Given the description of an element on the screen output the (x, y) to click on. 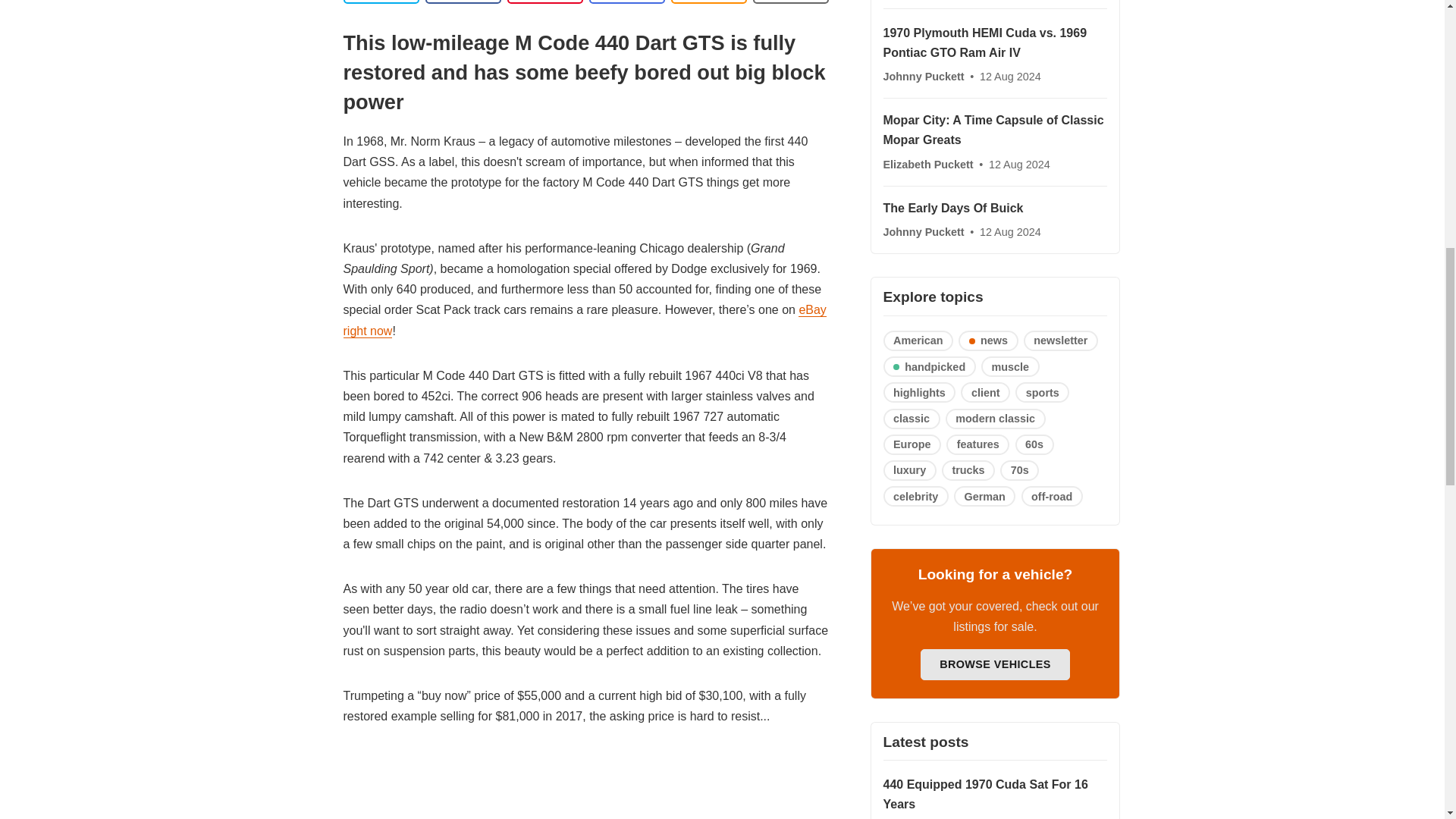
Johnny Puckett (924, 232)
news (987, 340)
Bookmark (790, 1)
1970 Plymouth HEMI Cuda vs. 1969 Pontiac GTO Ram Air IV (984, 42)
American (917, 340)
Johnny Puckett (924, 76)
Share on Twitter (380, 1)
eBay right now (583, 320)
Share by email (625, 1)
Copy to clipboard (707, 1)
